Given the description of an element on the screen output the (x, y) to click on. 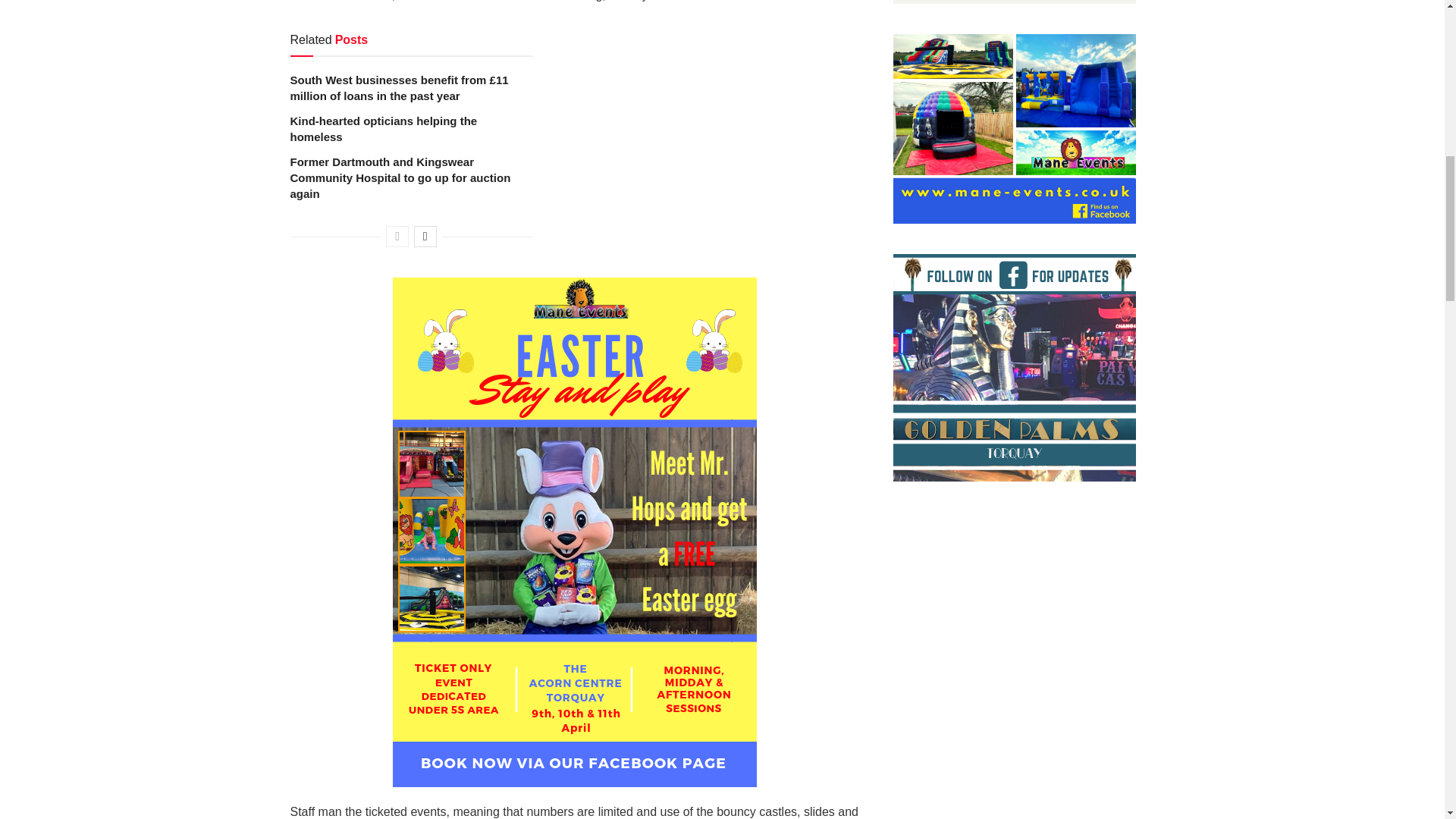
Previous (397, 236)
Next (424, 236)
Kind-hearted opticians helping the homeless (383, 128)
